Given the description of an element on the screen output the (x, y) to click on. 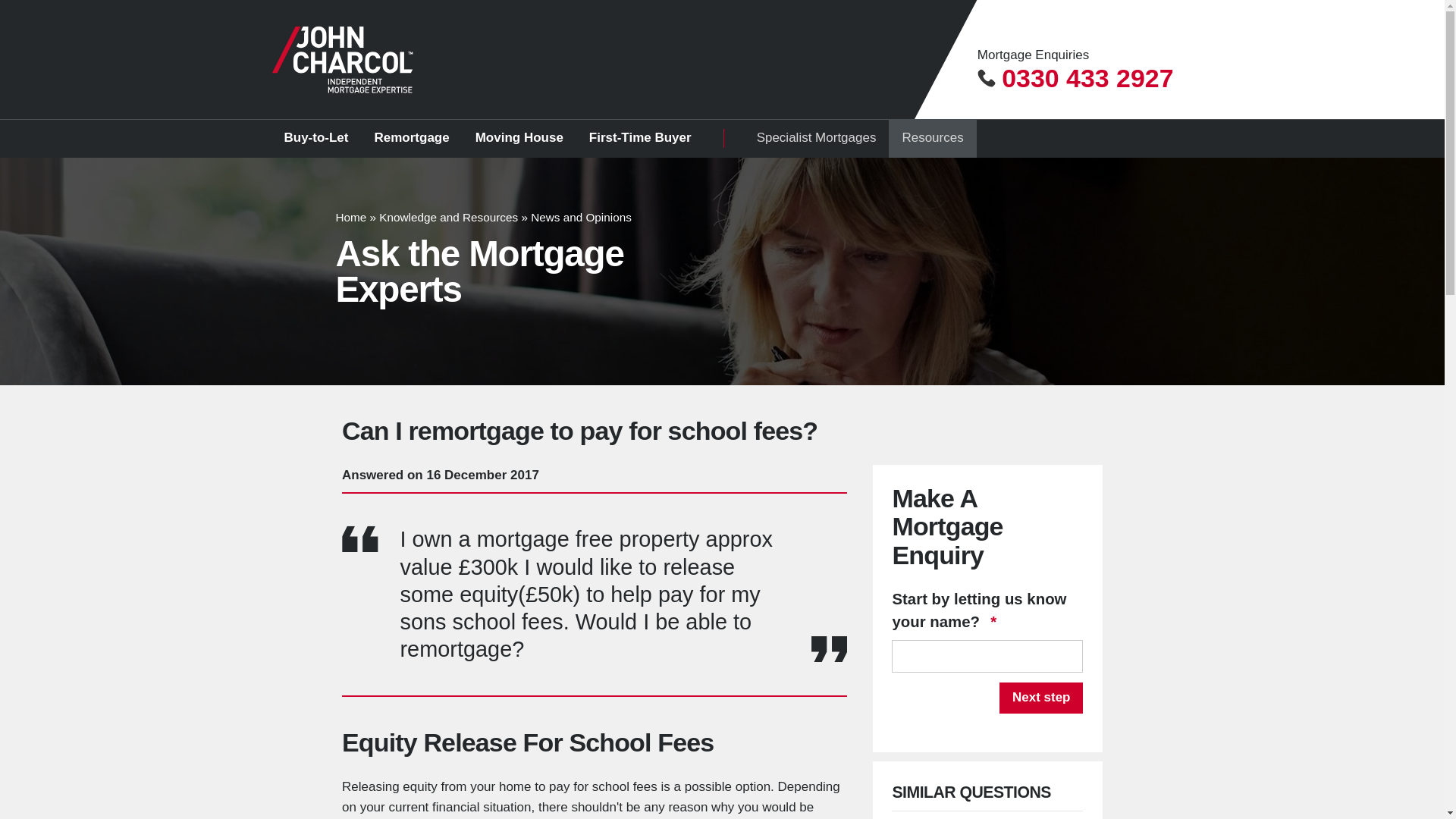
Buy-to-Let (315, 138)
John Charcol - The independent mortgage experts (341, 59)
Remortgage (411, 138)
Buy-to-Let (315, 138)
